Given the description of an element on the screen output the (x, y) to click on. 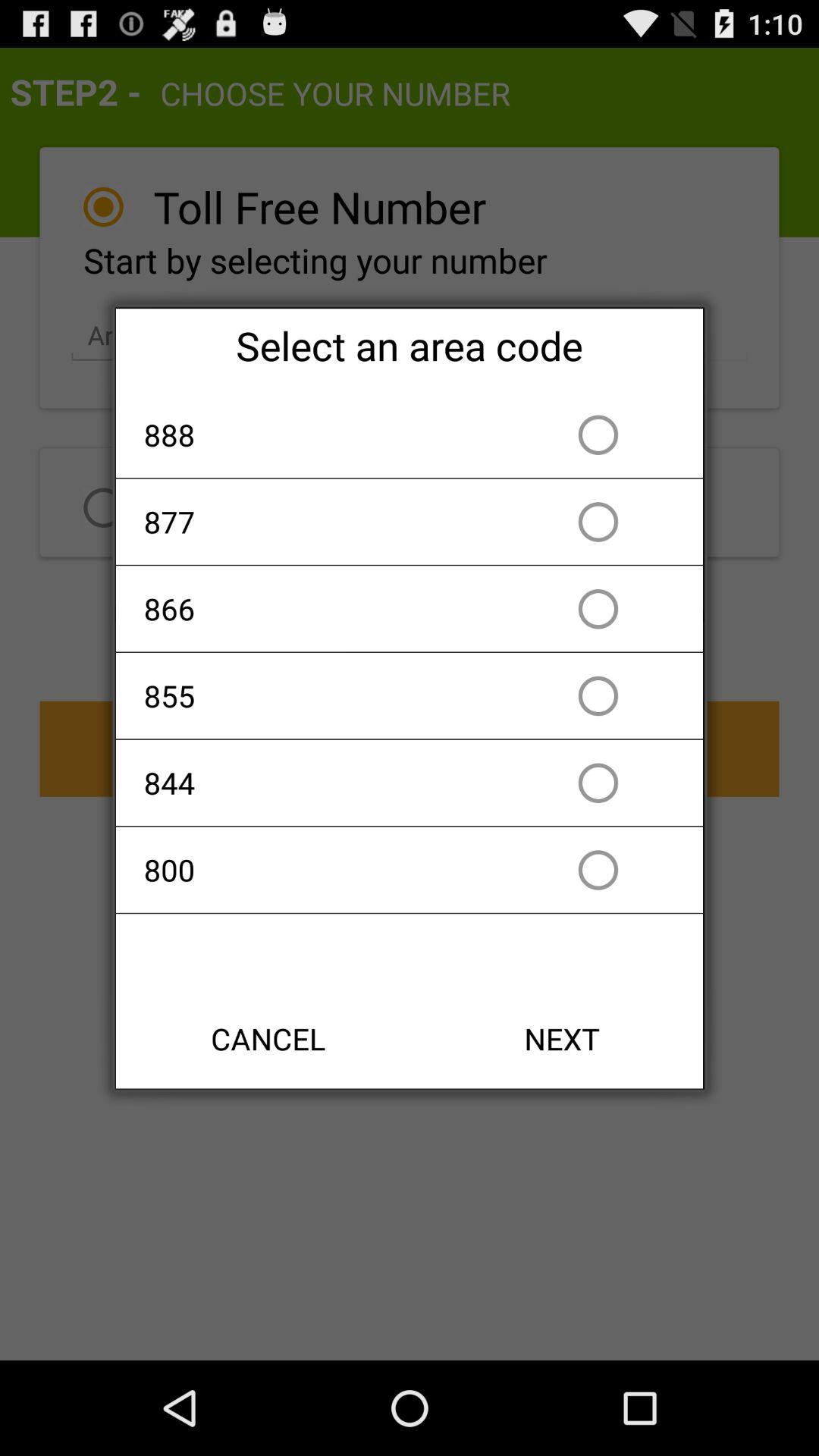
turn on icon at the bottom left corner (268, 1038)
